Given the description of an element on the screen output the (x, y) to click on. 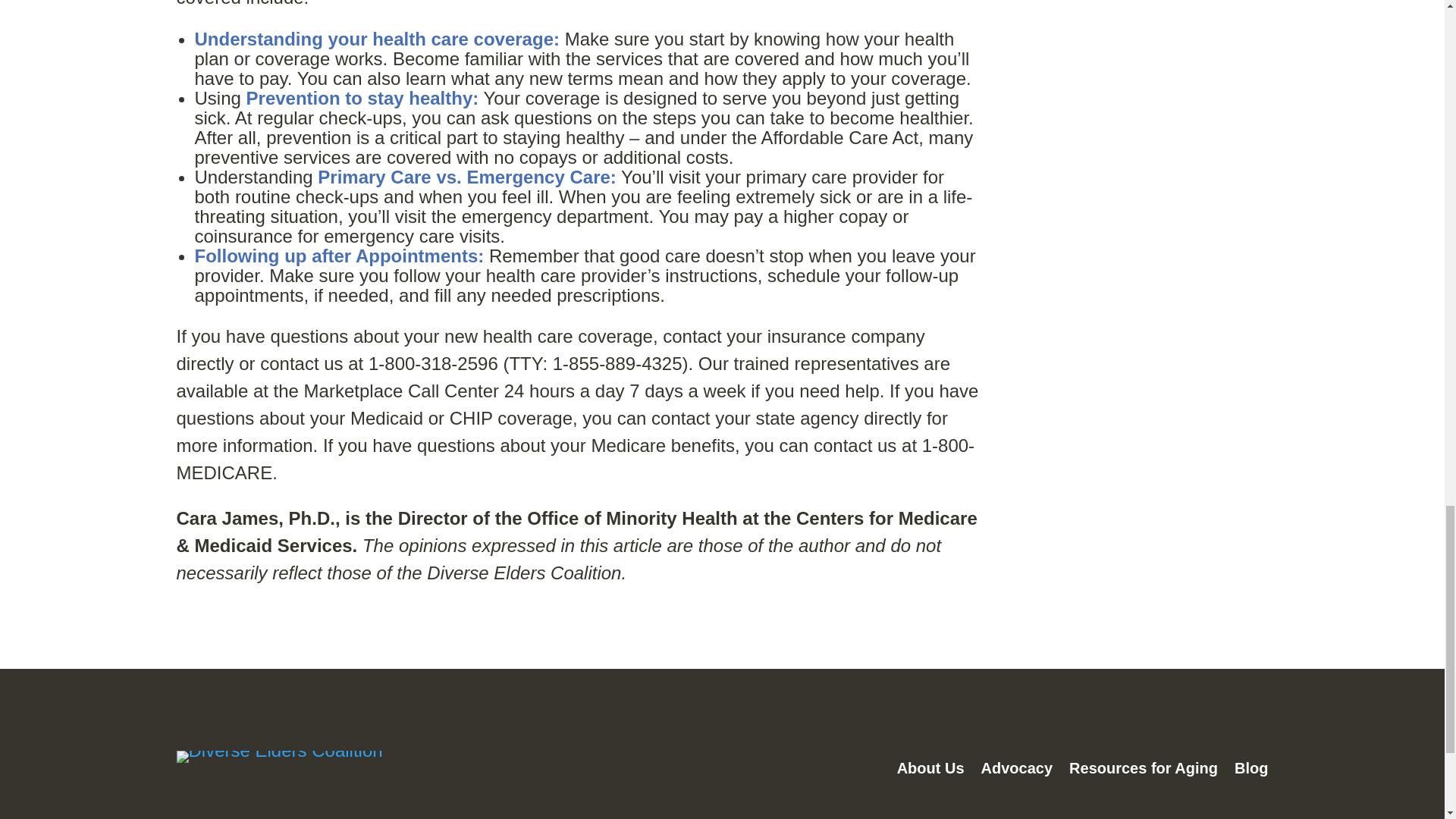
About Us (929, 770)
Understanding your health care coverage: (376, 38)
Advocacy (1016, 770)
Following up after Appointments: (338, 255)
Resources for Aging (1142, 770)
Blog (1251, 770)
Prevention to stay healthy: (362, 97)
Primary Care vs. Emergency Care: (466, 177)
